Given the description of an element on the screen output the (x, y) to click on. 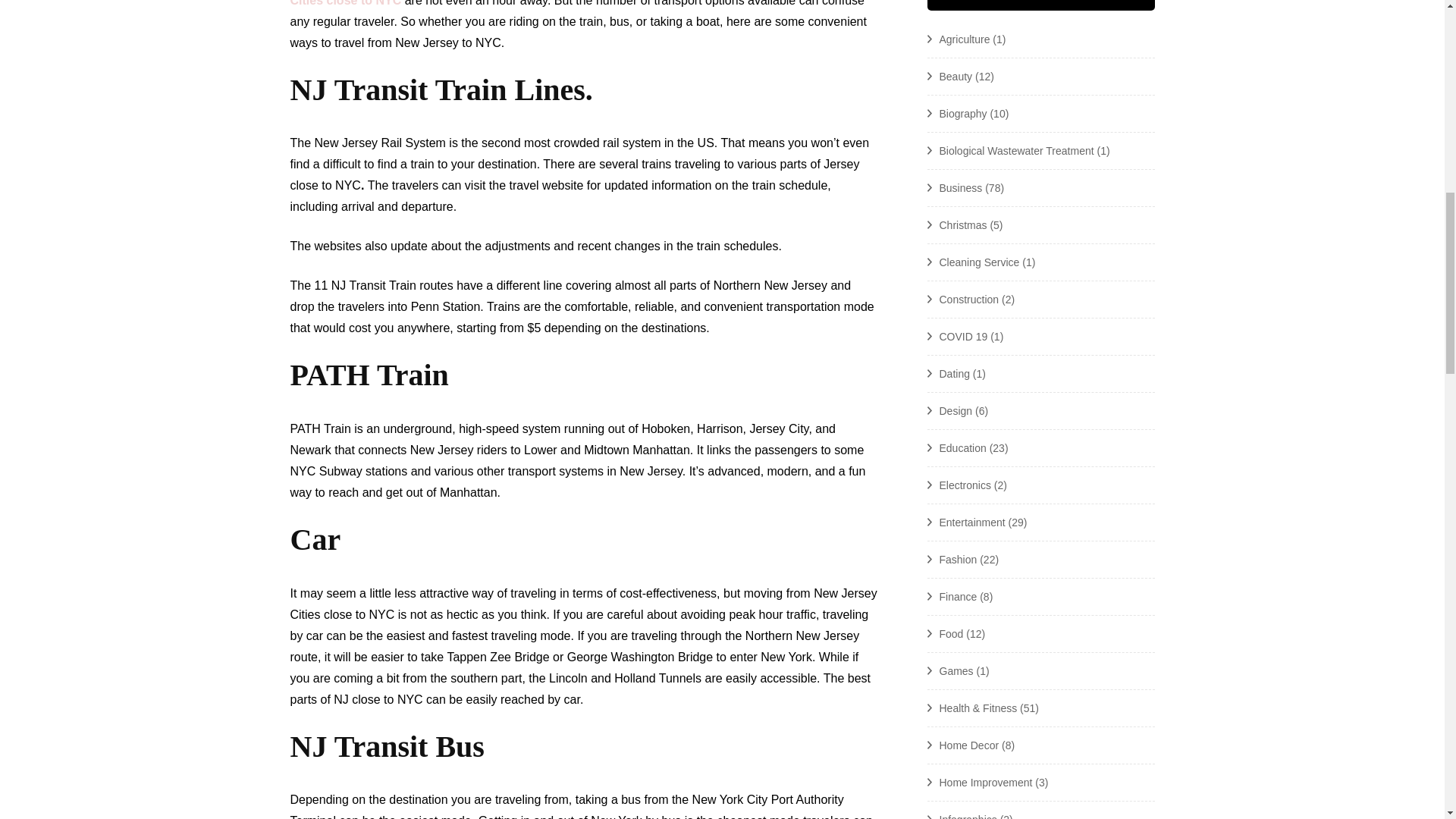
New Jersey Cities close to NYC (574, 3)
